Given the description of an element on the screen output the (x, y) to click on. 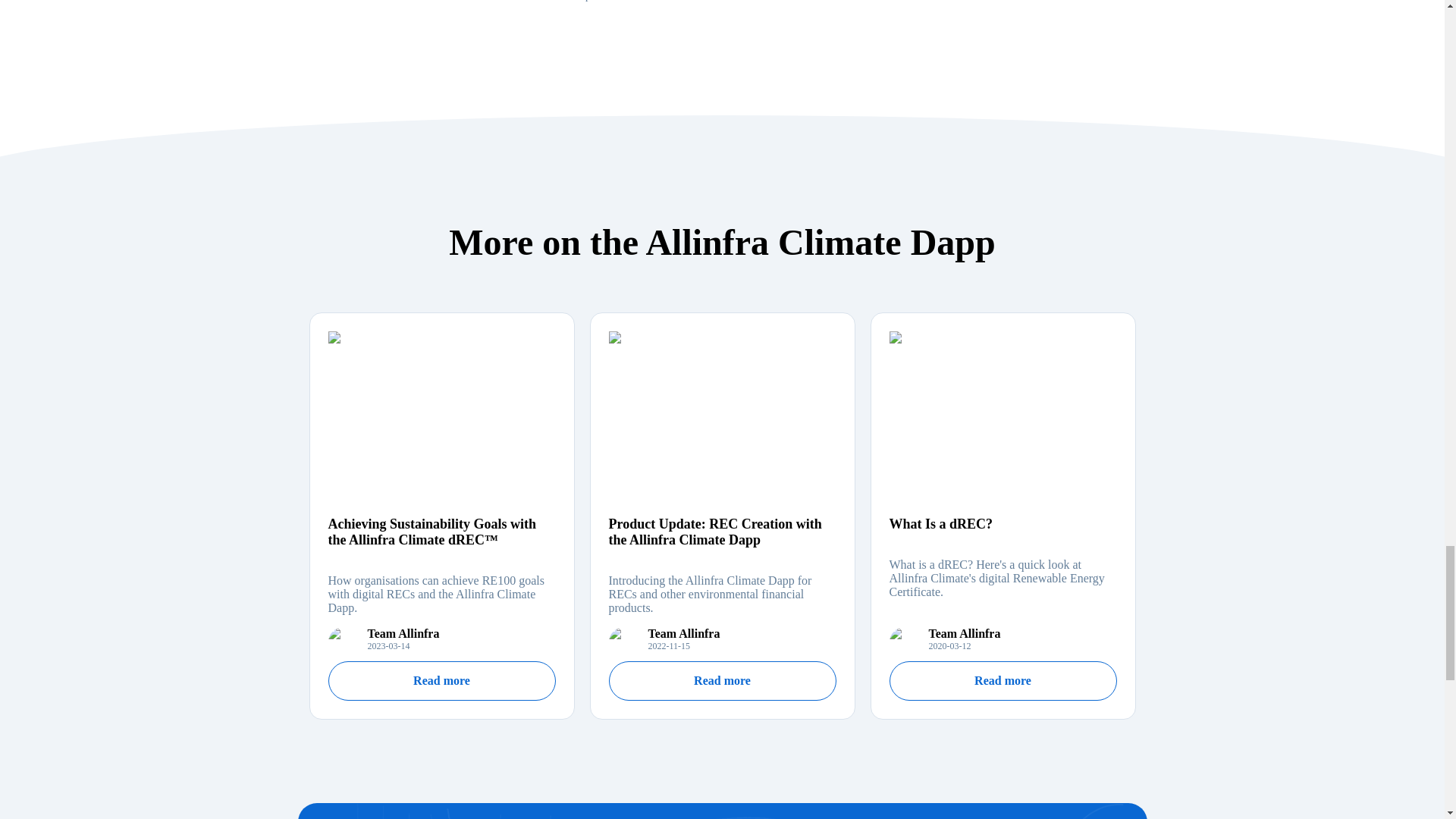
Read more (1002, 680)
Read more (721, 680)
Read more (440, 680)
